Given the description of an element on the screen output the (x, y) to click on. 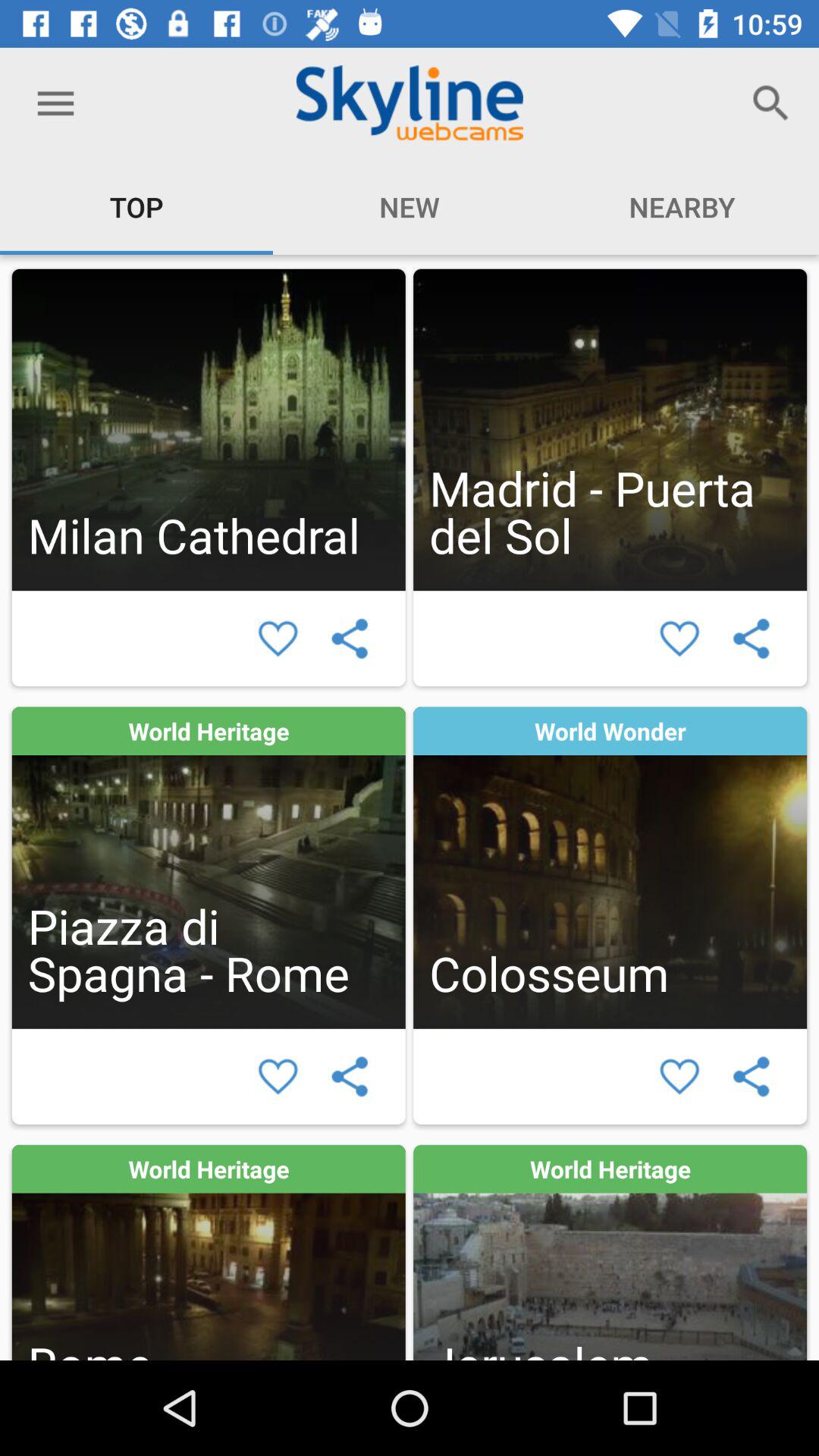
click for more (208, 1252)
